Given the description of an element on the screen output the (x, y) to click on. 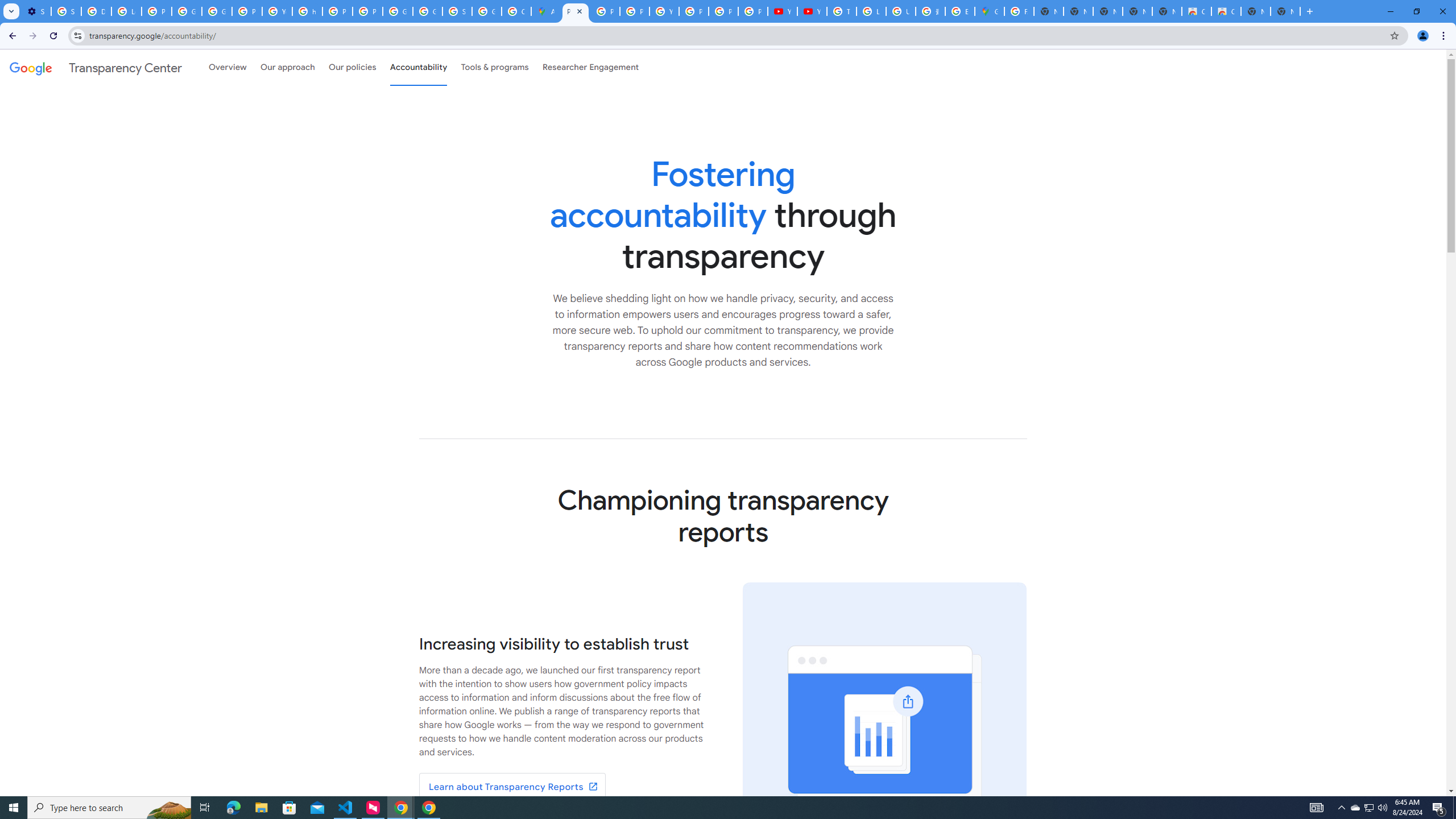
Delete photos & videos - Computer - Google Photos Help (95, 11)
Create your Google Account (515, 11)
Google Maps (989, 11)
New Tab (1284, 11)
Privacy Help Center - Policies Help (634, 11)
Accountability (418, 67)
YouTube (664, 11)
Policy Accountability and Transparency - Transparency Center (575, 11)
Our policies (351, 67)
